Given the description of an element on the screen output the (x, y) to click on. 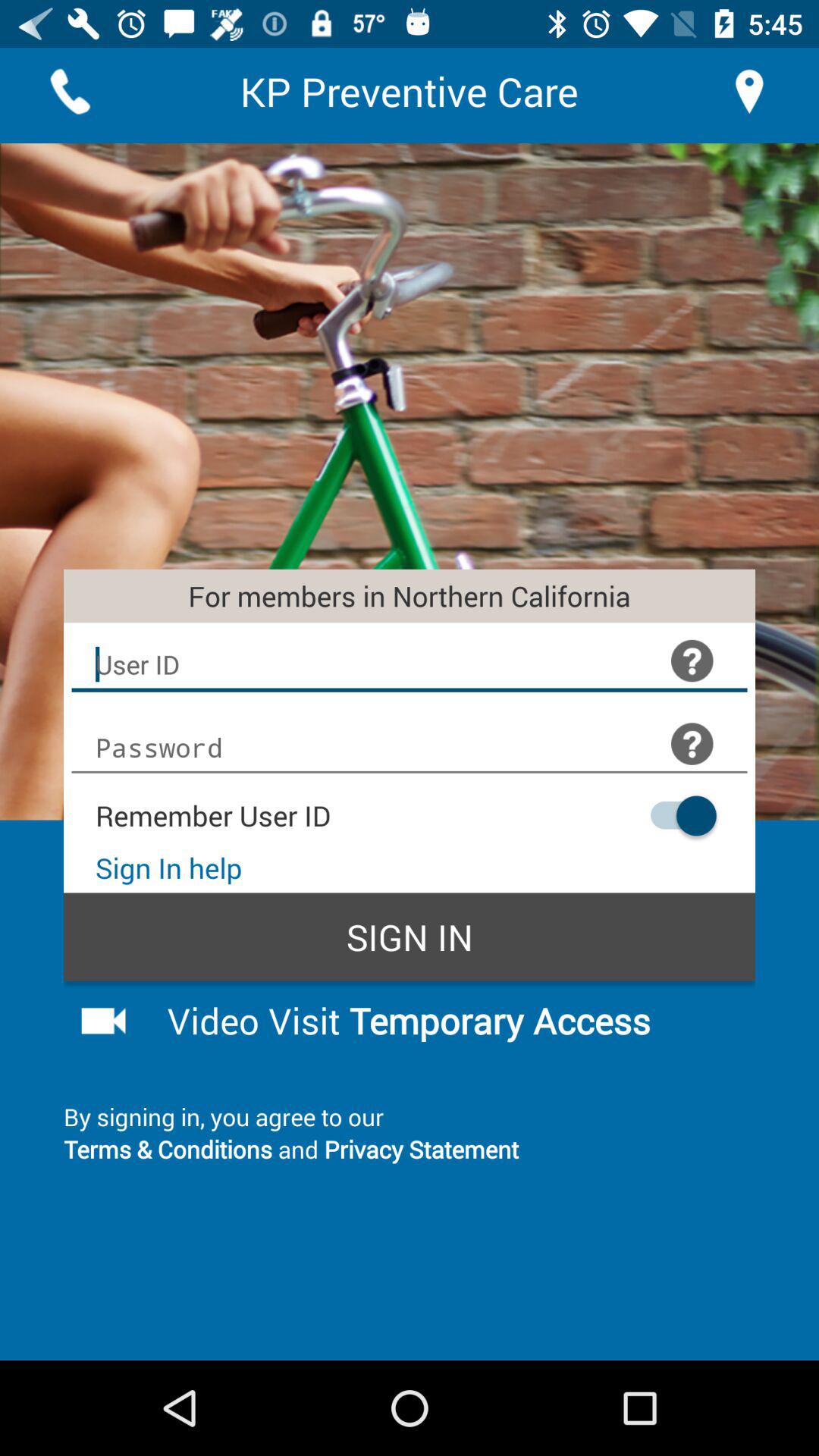
launch item below by signing in icon (409, 1148)
